Given the description of an element on the screen output the (x, y) to click on. 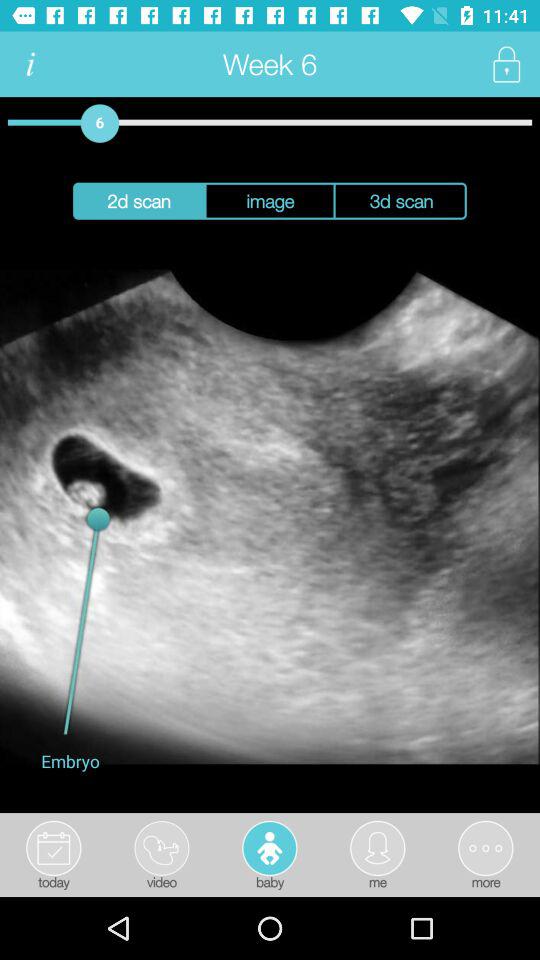
more information (30, 63)
